Given the description of an element on the screen output the (x, y) to click on. 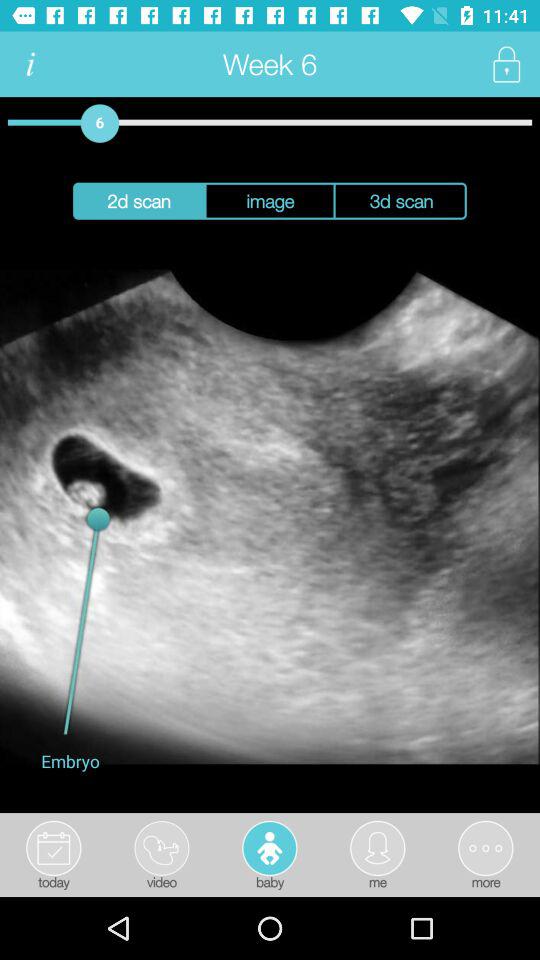
more information (30, 63)
